Given the description of an element on the screen output the (x, y) to click on. 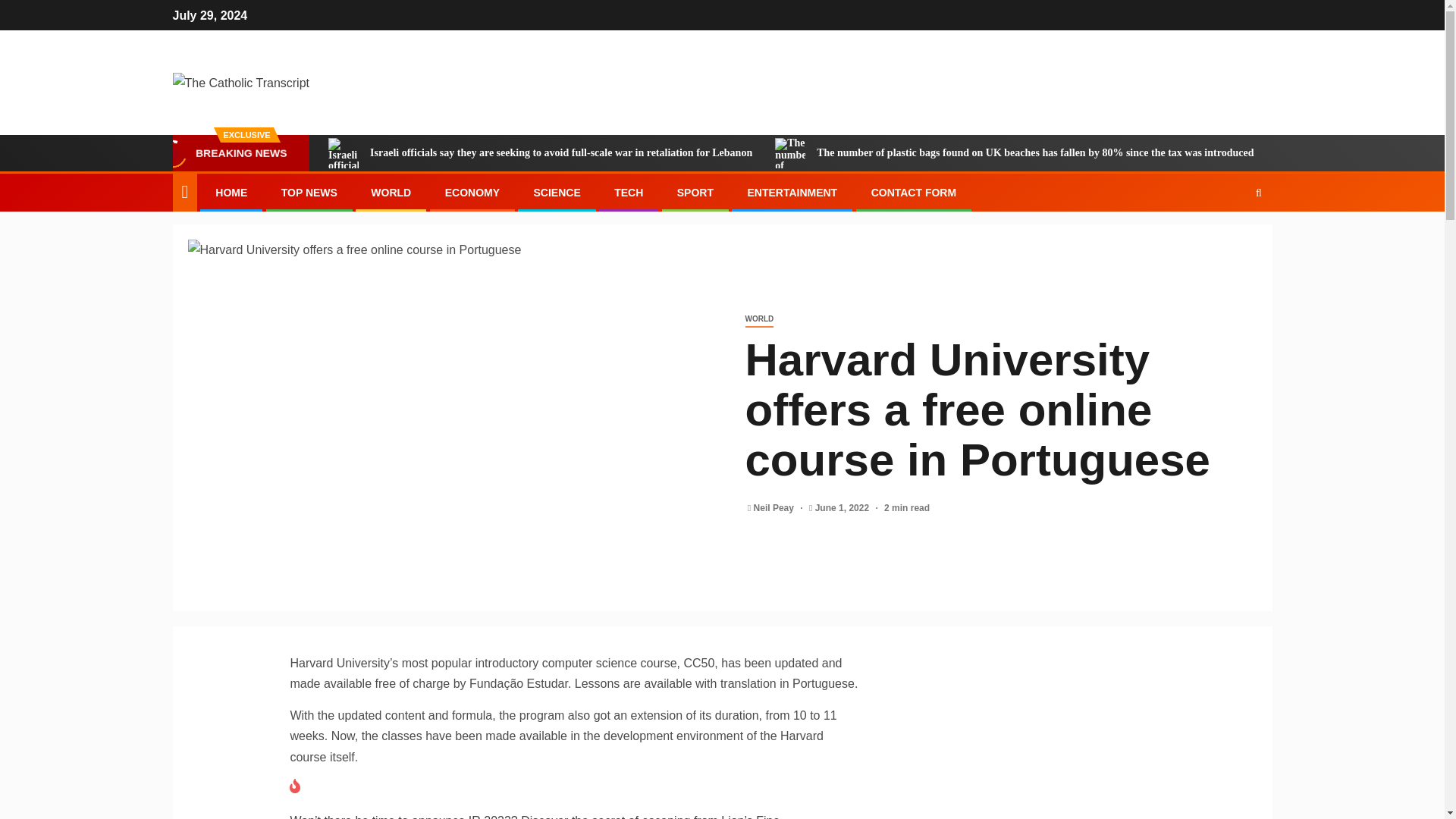
SCIENCE (555, 192)
SPORT (695, 192)
ECONOMY (472, 192)
Search (1229, 238)
CONTACT FORM (913, 192)
ENTERTAINMENT (791, 192)
TECH (628, 192)
WORLD (390, 192)
Neil Peay (775, 507)
WORLD (758, 319)
TOP NEWS (309, 192)
HOME (231, 192)
